Given the description of an element on the screen output the (x, y) to click on. 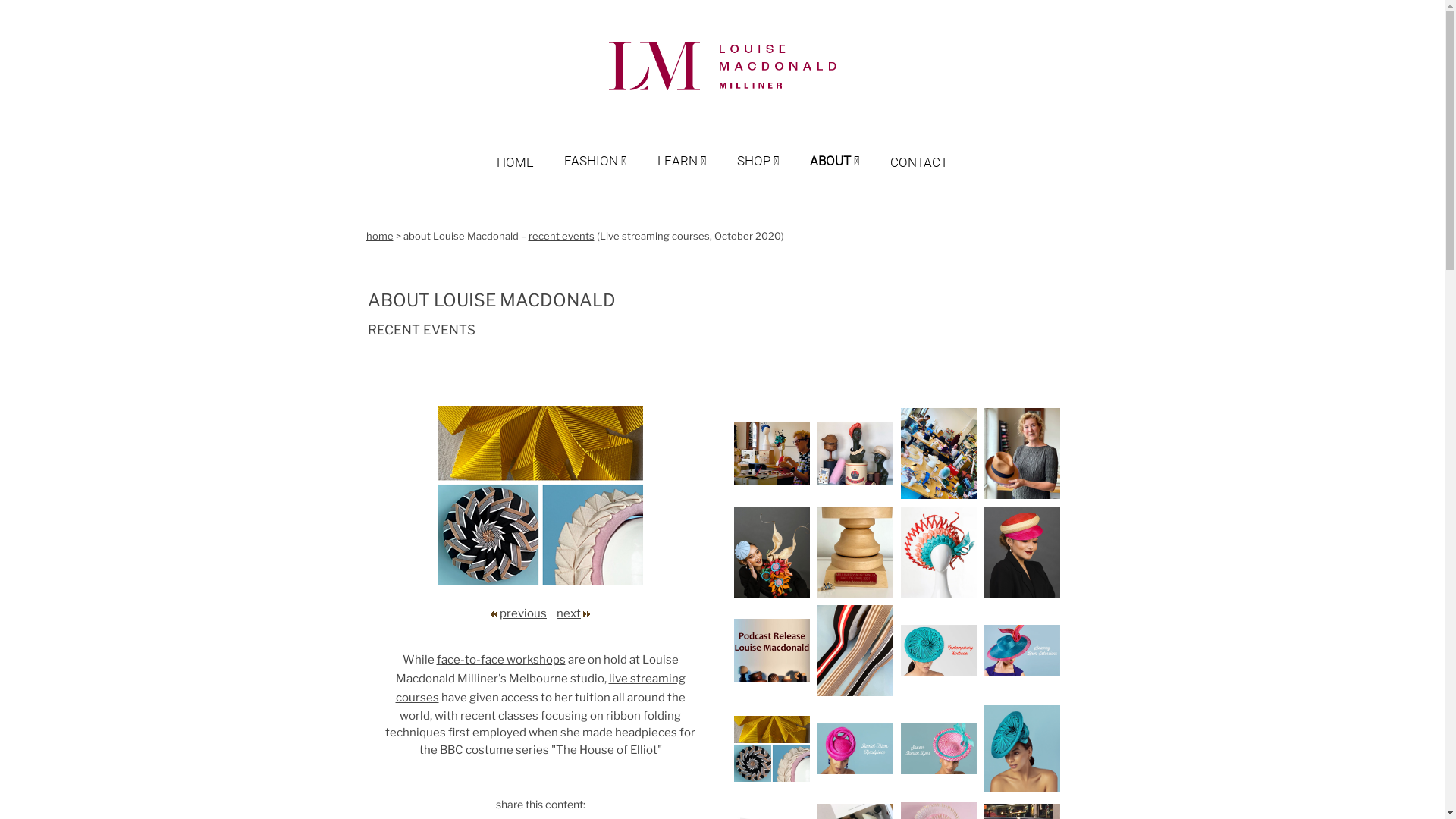
recent events Element type: text (560, 235)
live streaming courses Element type: text (540, 687)
next Element type: text (568, 613)
Louise Macdonald Milliner (Melbourne, Australia) | Home page Element type: hover (721, 65)
HOME Element type: text (530, 147)
previous Element type: text (526, 613)
face-to-face workshops Element type: text (500, 659)
Louise Macdonald's Melbourne studio is a hatmaking hub Element type: hover (938, 455)
RECENT EVENTS Element type: text (420, 329)
Louise Macdonald Milliner (Melbourne, Australia) | Home page Element type: hover (721, 90)
home Element type: text (378, 235)
CONTACT Element type: text (918, 147)
"The House of Elliot" Element type: text (605, 749)
